Given the description of an element on the screen output the (x, y) to click on. 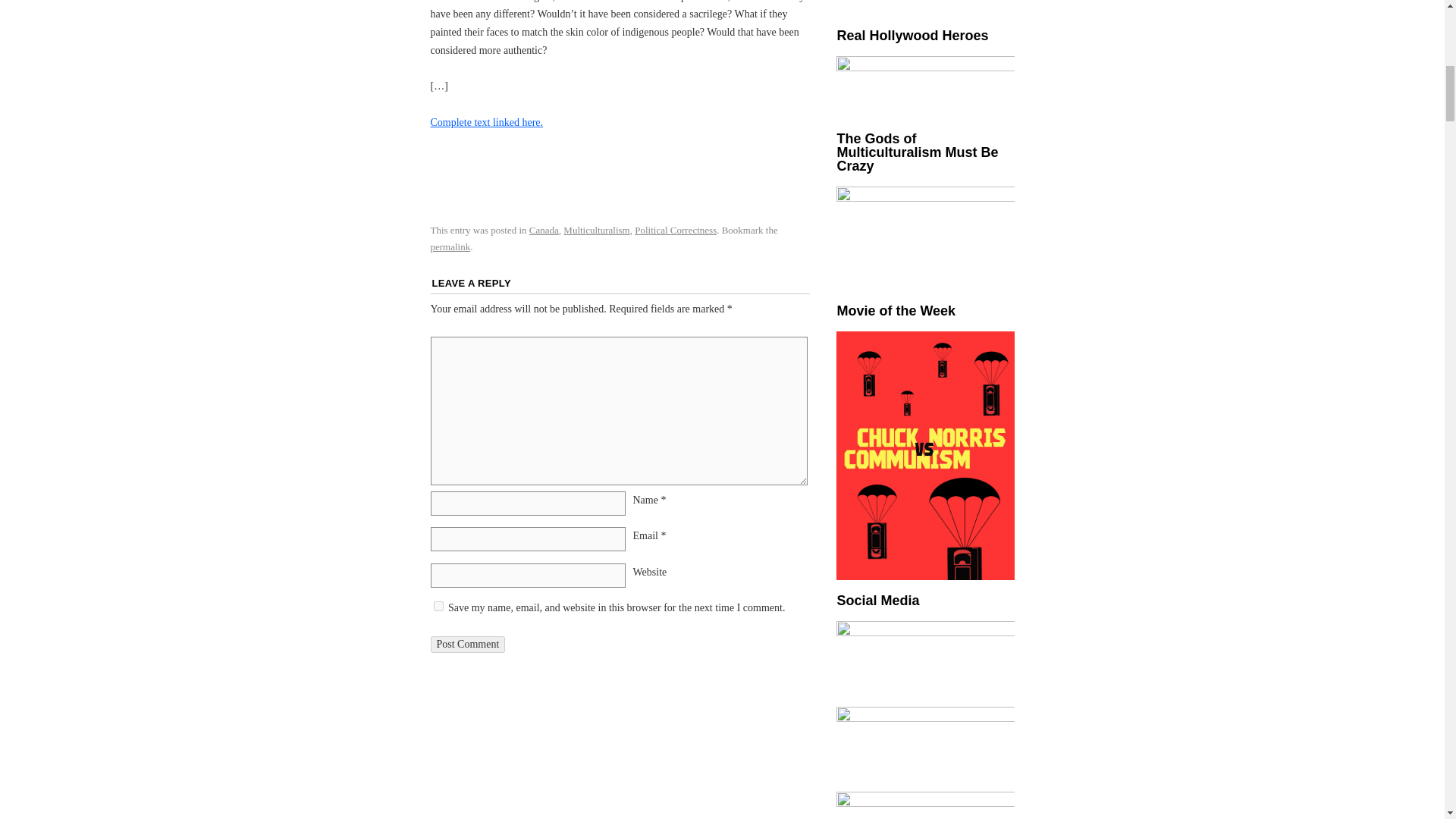
Complete text linked here. (486, 122)
Post Comment (467, 644)
Political Correctness (675, 229)
permalink (450, 246)
Canada (544, 229)
Post Comment (467, 644)
Multiculturalism (595, 229)
yes (438, 605)
